Given the description of an element on the screen output the (x, y) to click on. 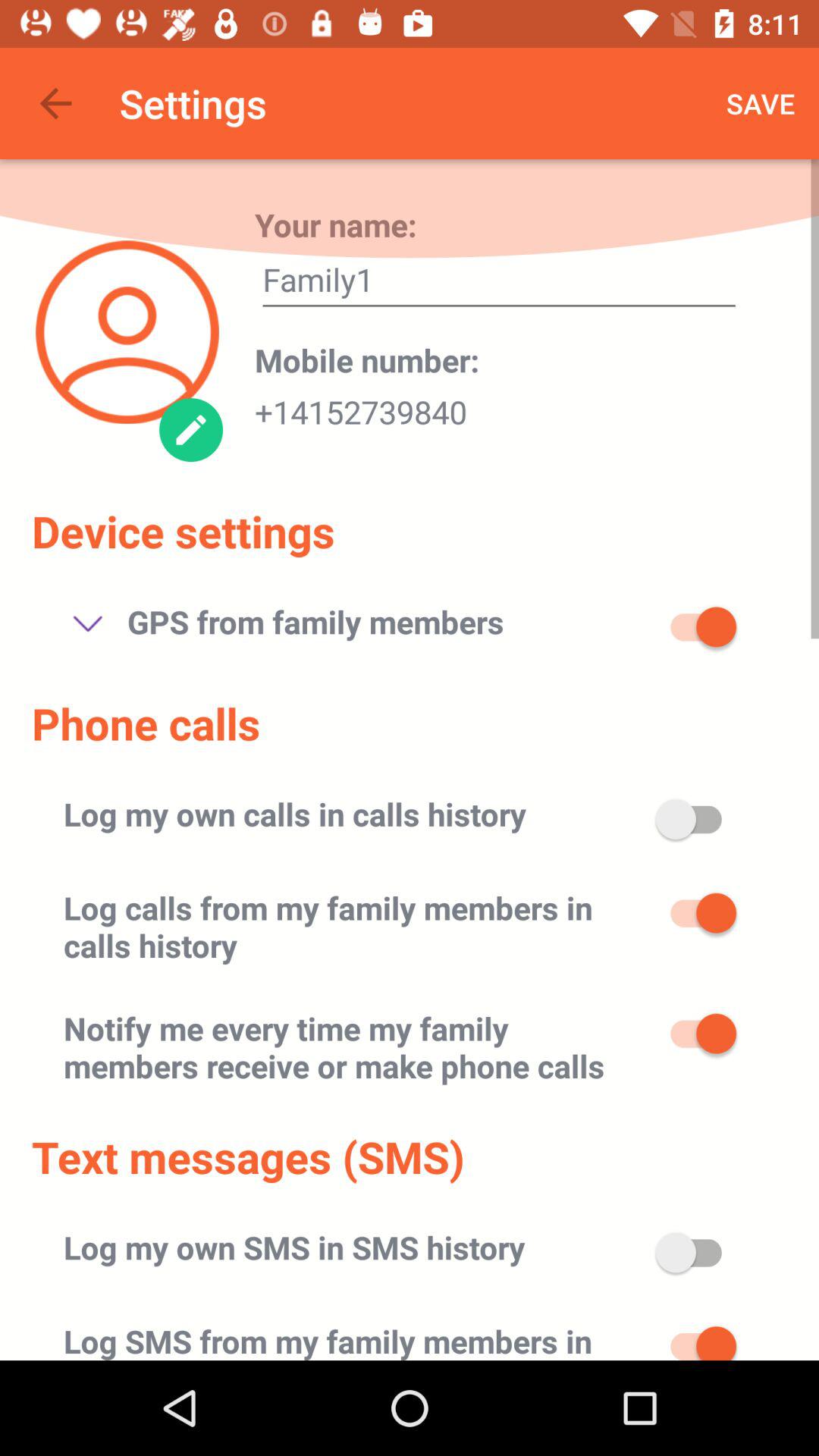
click the item above the phone calls (87, 623)
